Given the description of an element on the screen output the (x, y) to click on. 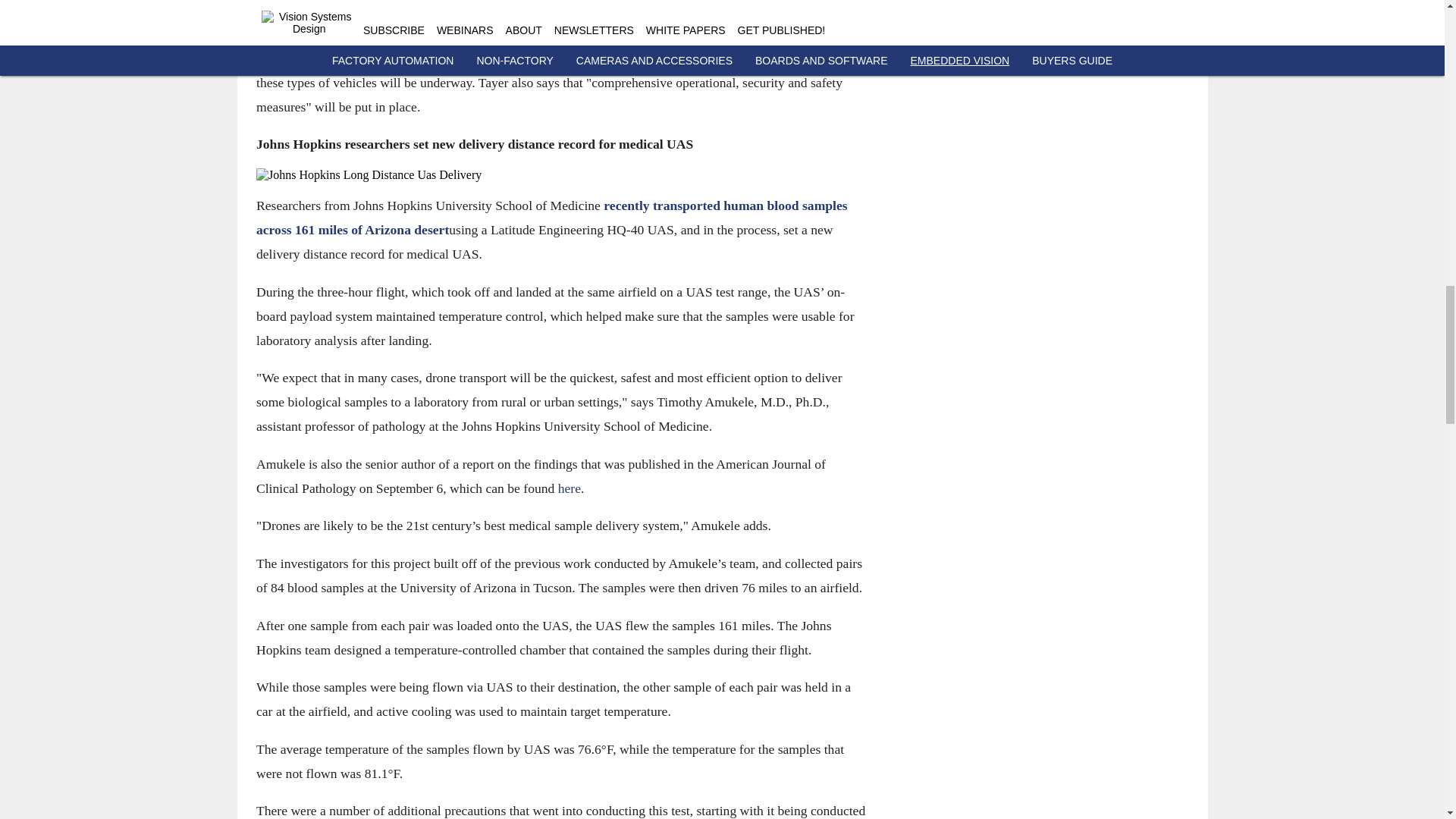
here (568, 487)
Johns Hopkins Long Distance Uas Delivery (560, 174)
